Given the description of an element on the screen output the (x, y) to click on. 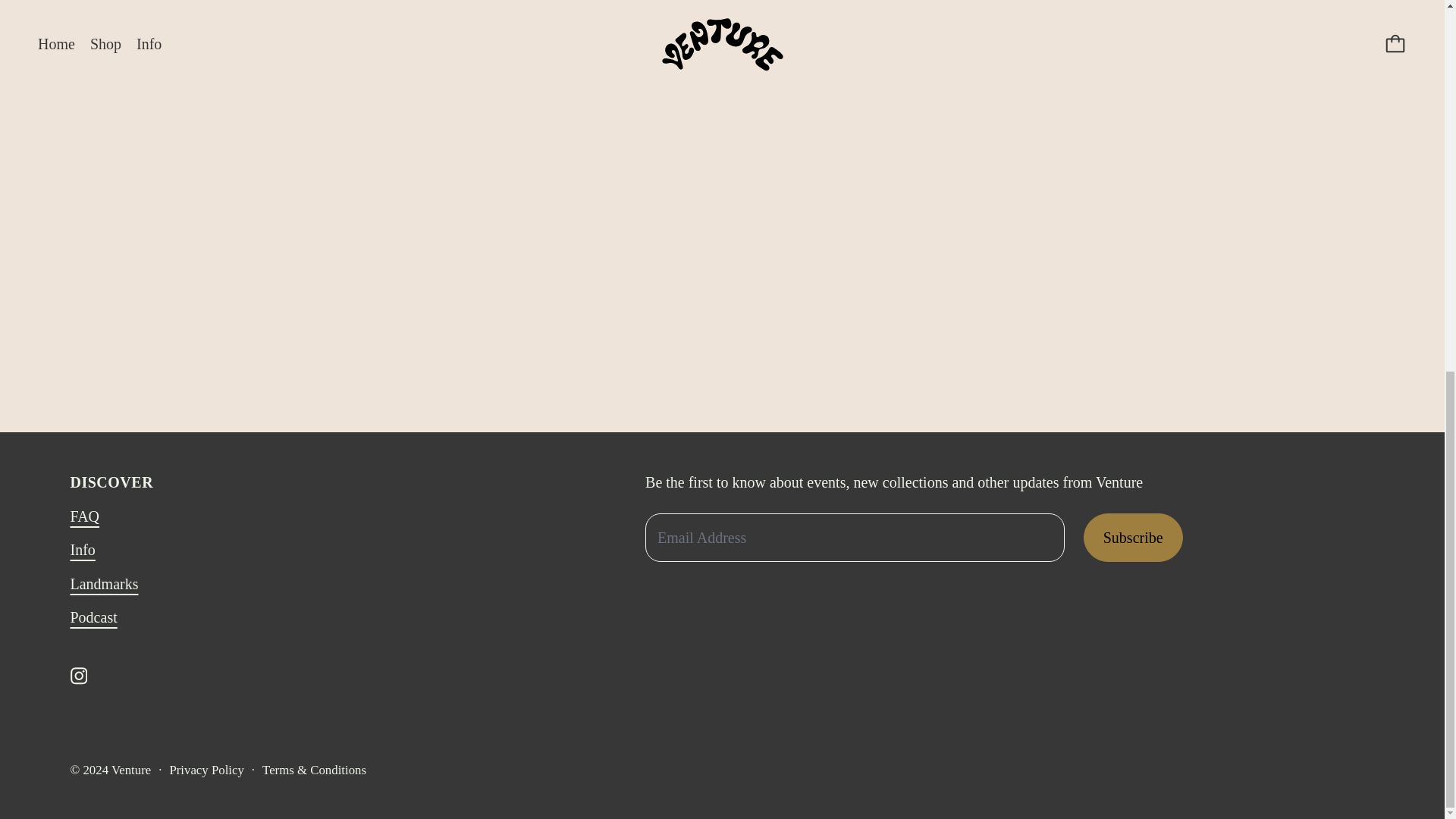
Subscribe (1132, 537)
FAQ (84, 515)
Info (81, 549)
Landmarks (103, 583)
Venture Podcast (92, 617)
Podcast (92, 617)
Landmarks (103, 583)
Info (81, 549)
Venture (131, 769)
Add to Cart (1120, 41)
